Given the description of an element on the screen output the (x, y) to click on. 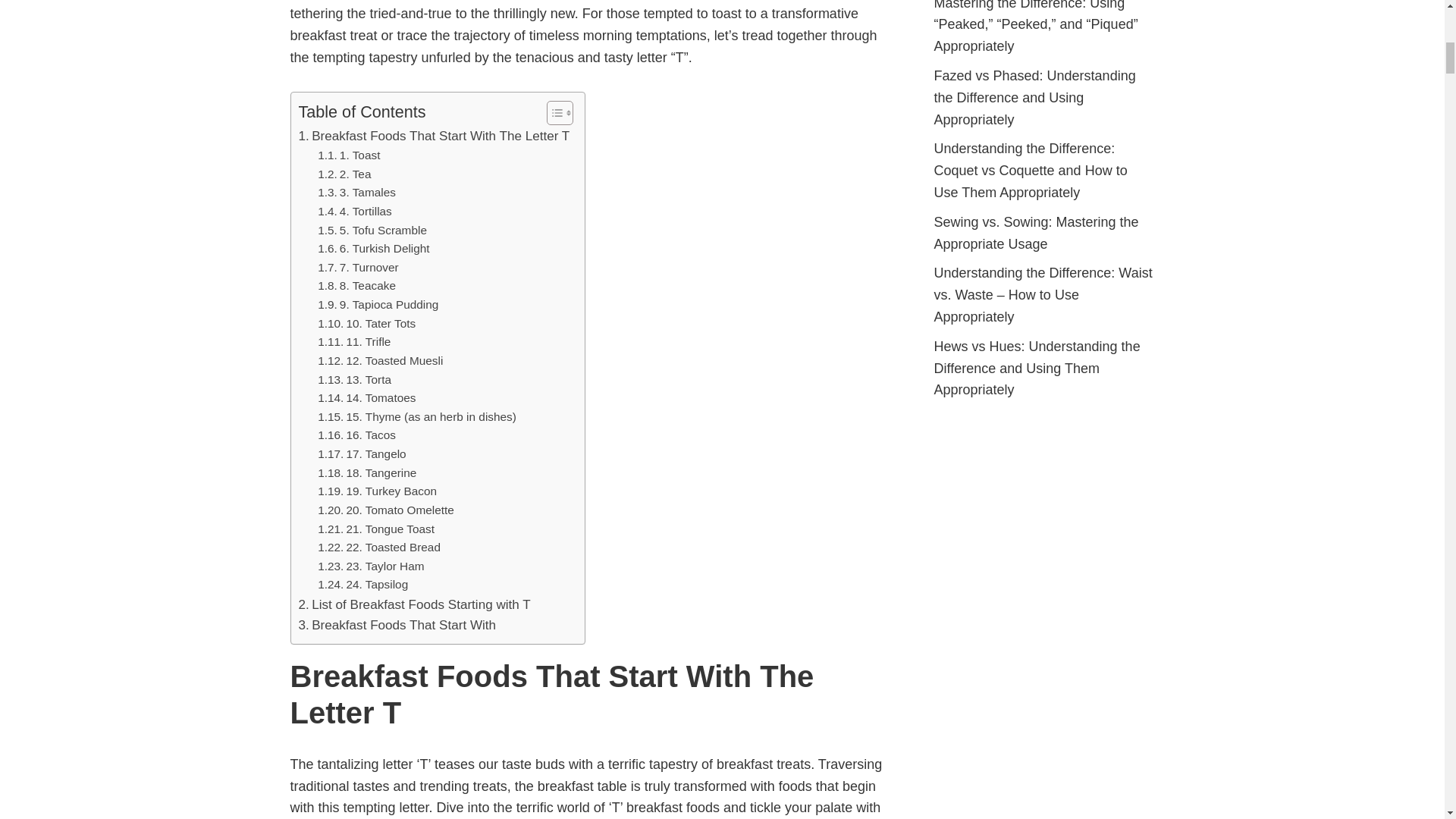
11. Trifle (353, 342)
9. Tapioca Pudding (377, 304)
6. Turkish Delight (373, 248)
10. Tater Tots (365, 323)
13. Torta (354, 380)
4. Tortillas (354, 211)
14. Tomatoes (365, 398)
3. Tamales (356, 192)
2. Tea (344, 174)
12. Toasted Muesli (379, 361)
5. Tofu Scramble (371, 230)
7. Turnover (357, 267)
Breakfast Foods That Start With The Letter T (434, 136)
8. Teacake (356, 285)
1. Toast (348, 155)
